Given the description of an element on the screen output the (x, y) to click on. 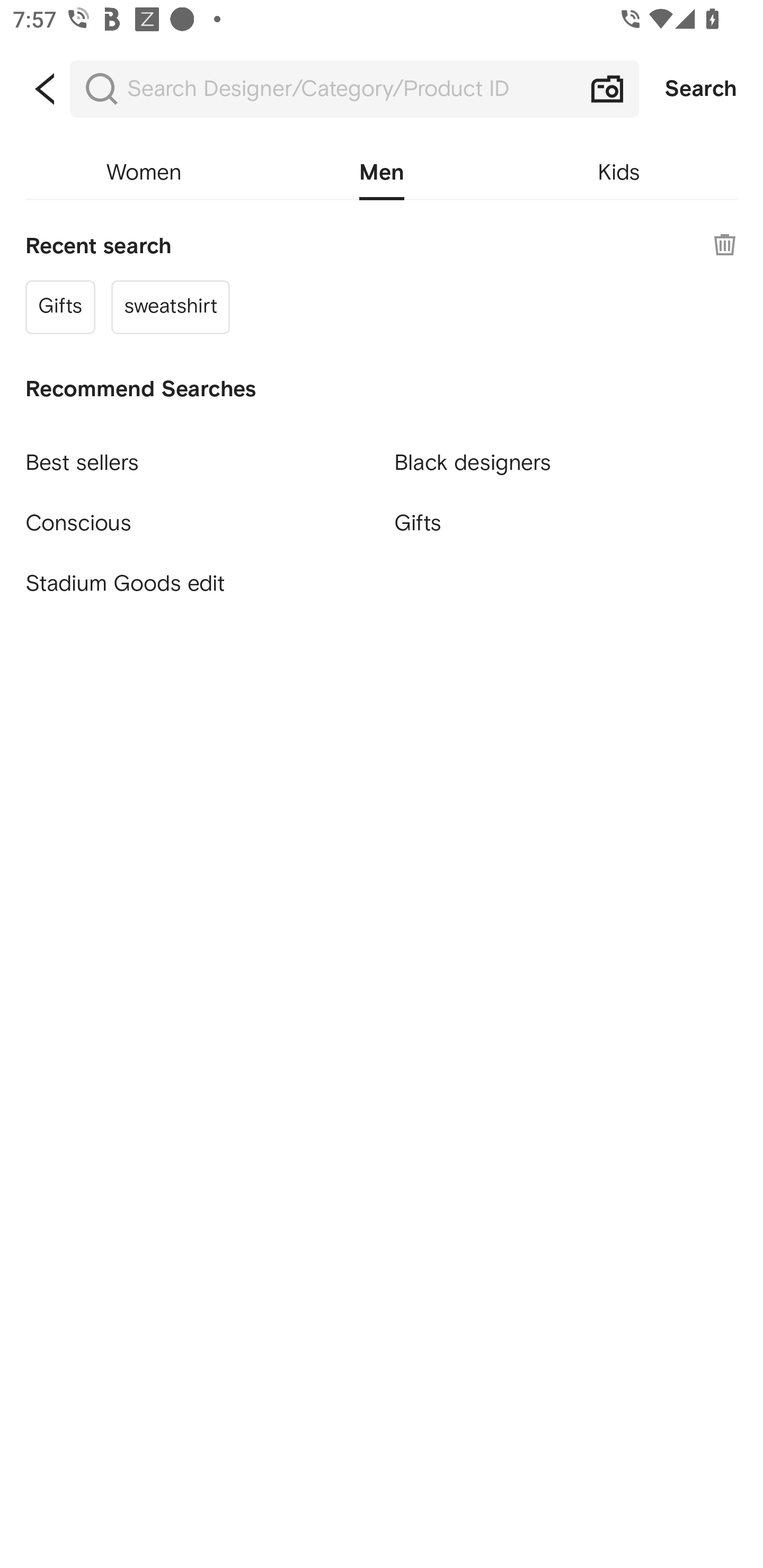
Search (701, 89)
Women (143, 172)
Kids (618, 172)
Gifts (60, 306)
sweatshirt (170, 306)
Best sellers (196, 454)
Black designers (565, 454)
Conscious (196, 514)
Gifts (565, 522)
Stadium Goods edit (196, 583)
